Given the description of an element on the screen output the (x, y) to click on. 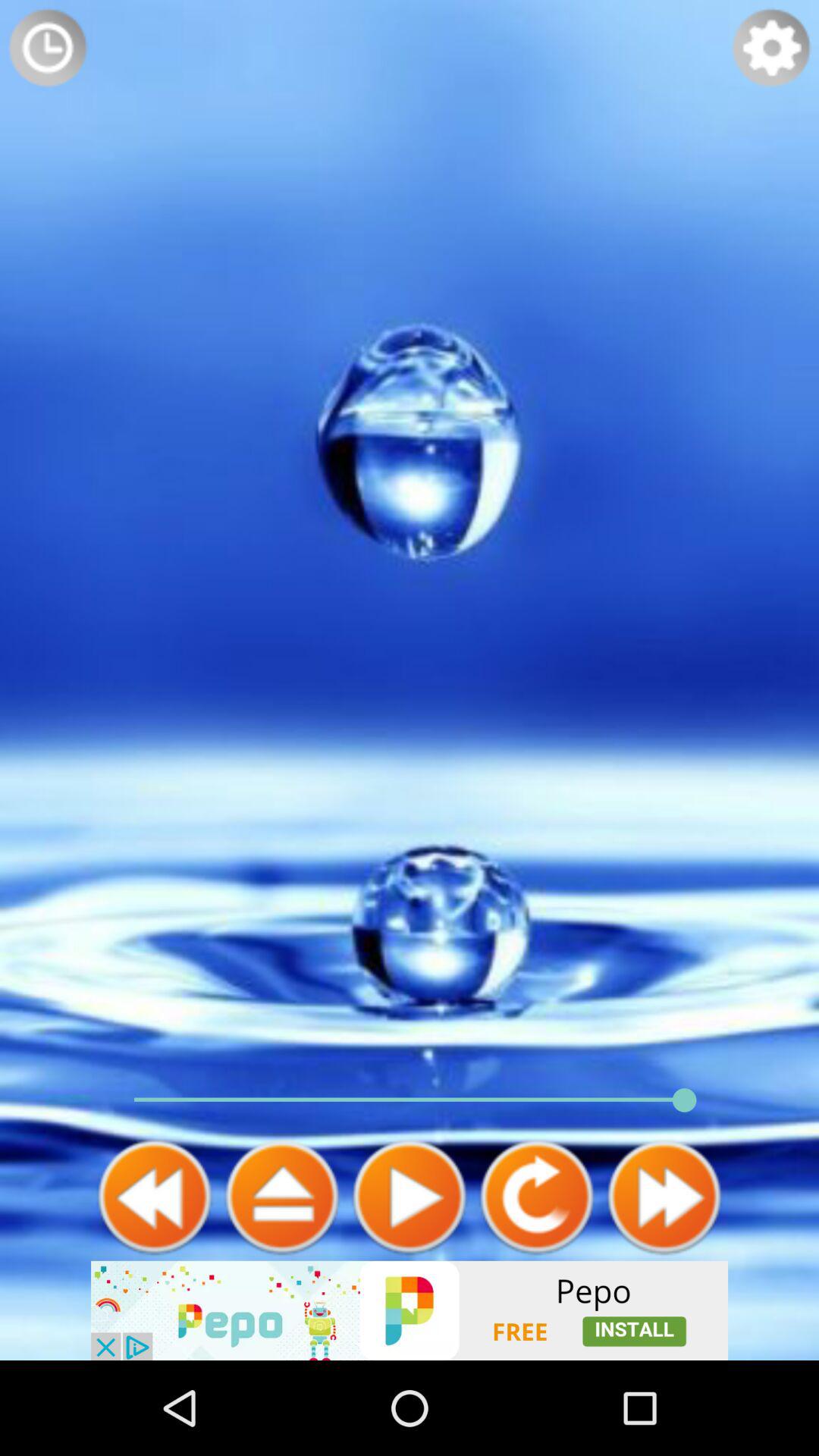
settings menu (771, 47)
